Given the description of an element on the screen output the (x, y) to click on. 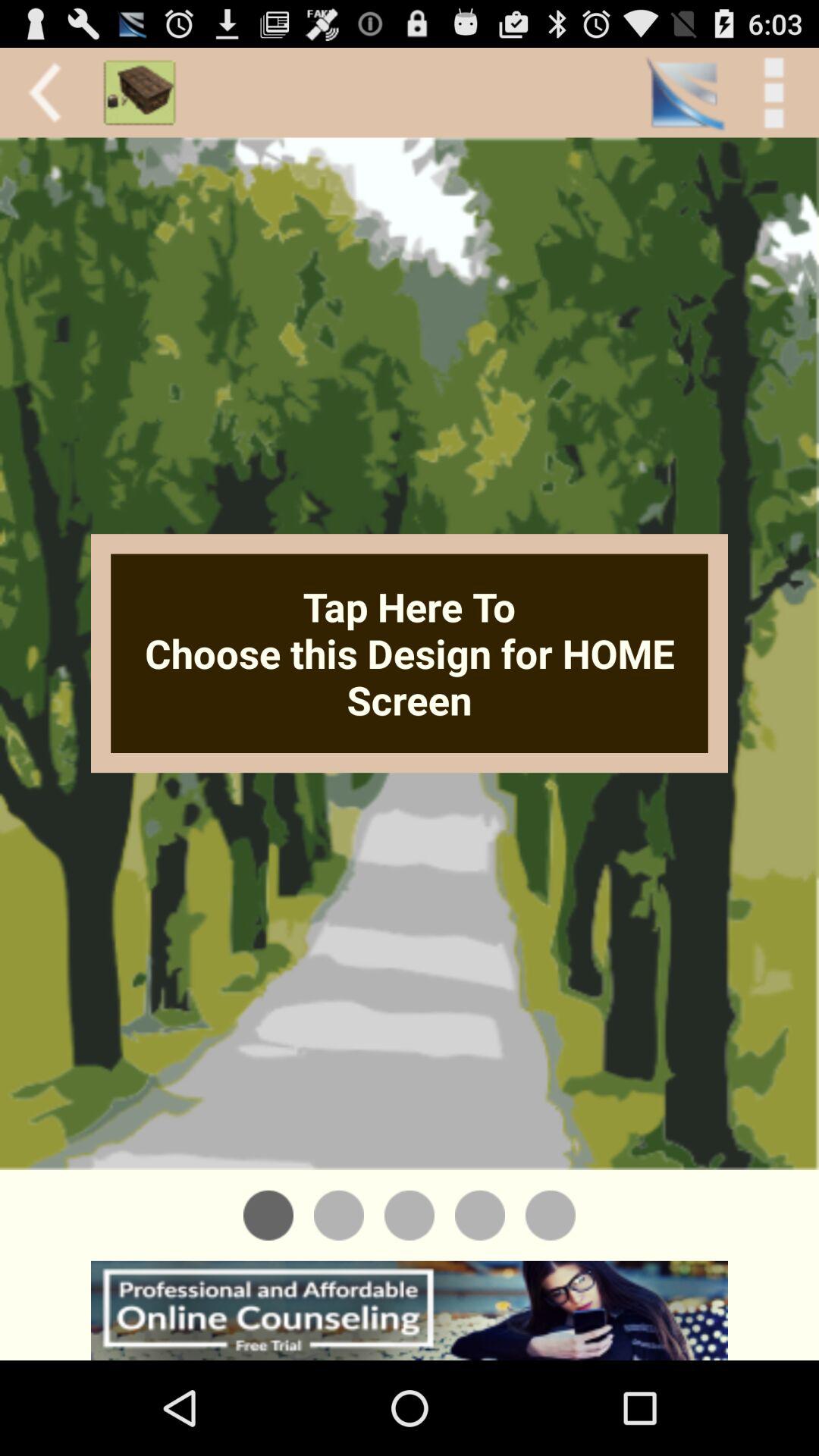
select the button (550, 1215)
